Given the description of an element on the screen output the (x, y) to click on. 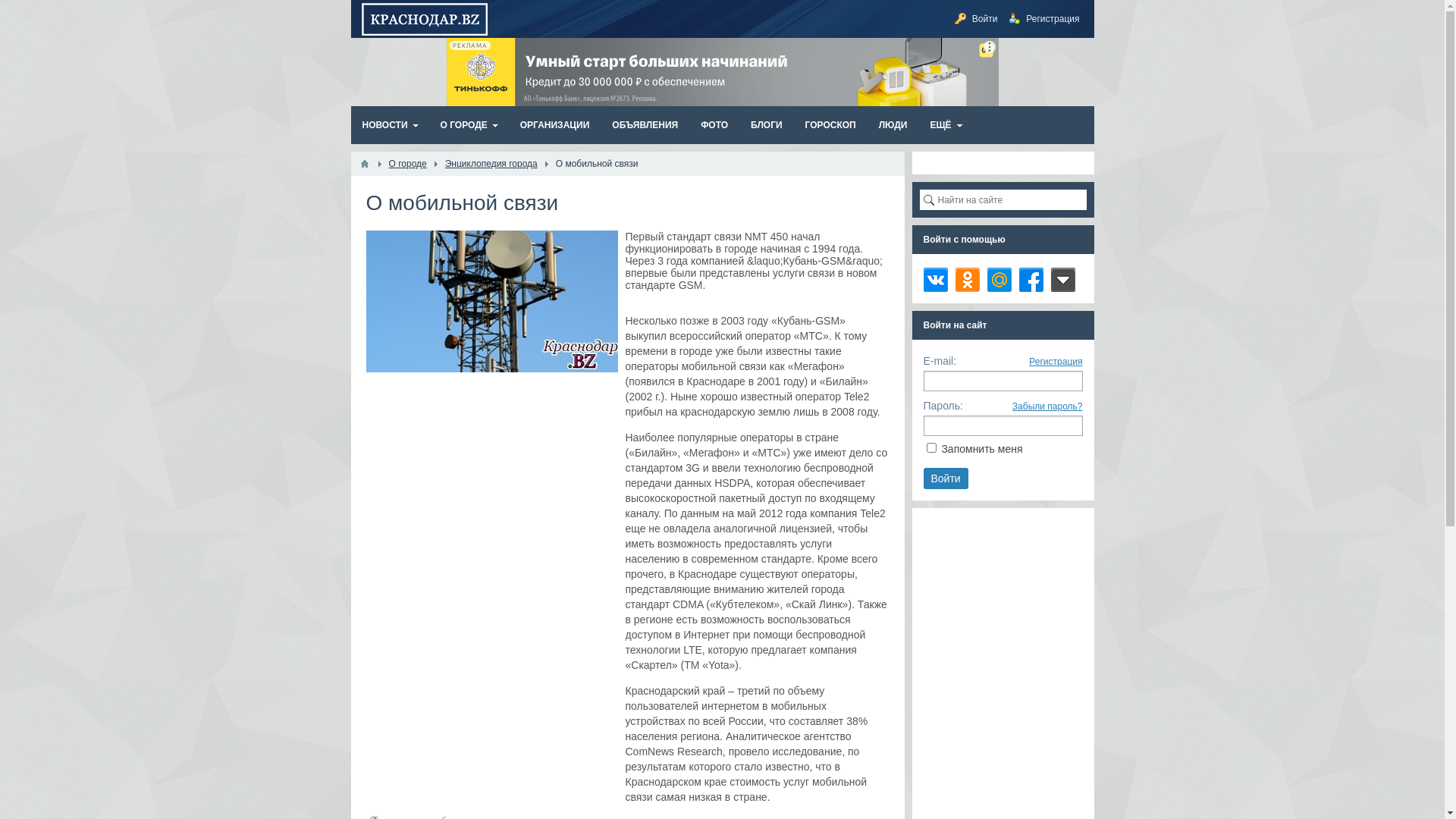
Facebook Element type: hover (1031, 279)
Odnoklassniki Element type: hover (967, 279)
VK Element type: hover (935, 279)
Mail.ru Element type: hover (999, 279)
